Given the description of an element on the screen output the (x, y) to click on. 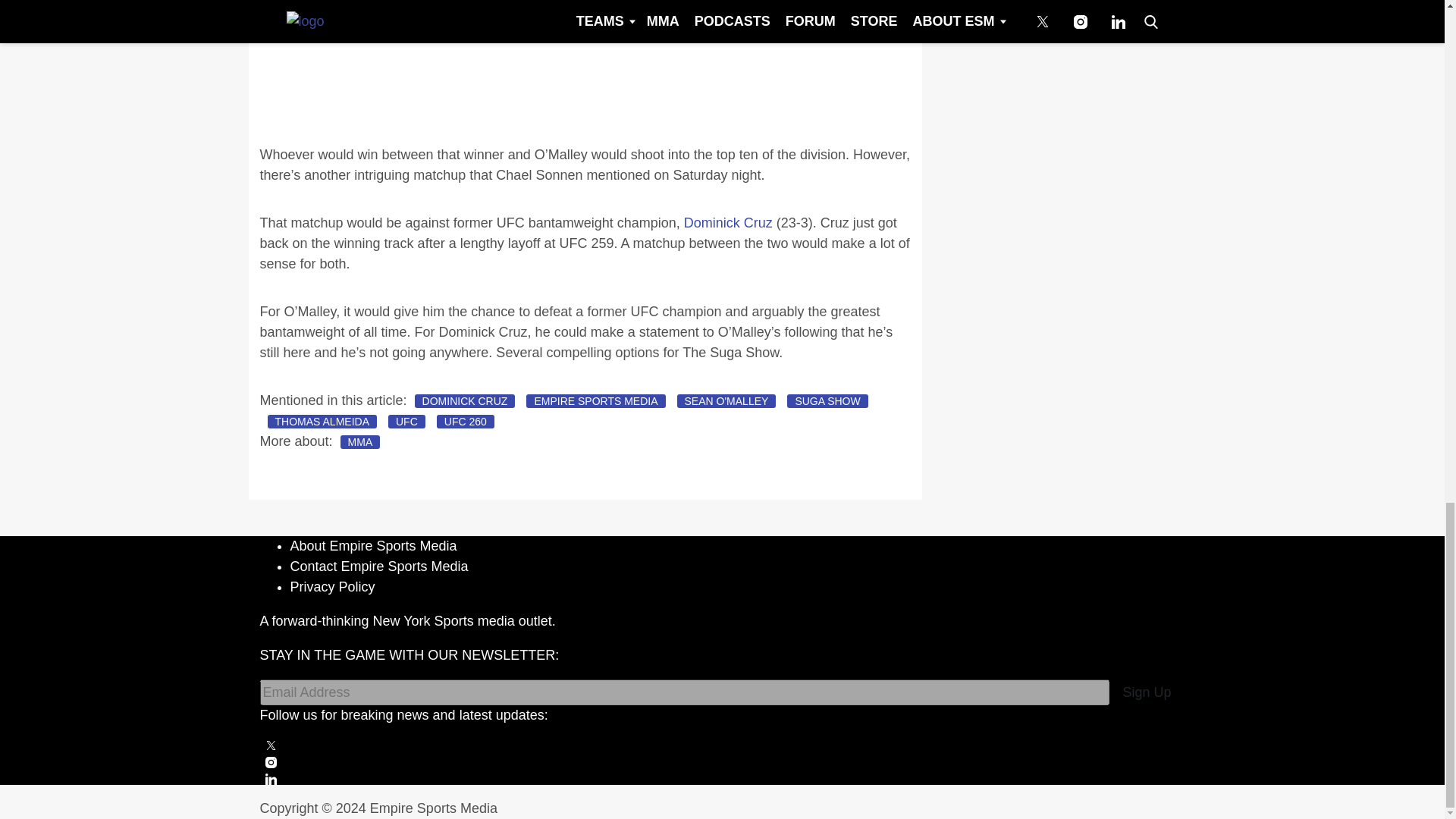
Follow us on Instagram (722, 762)
Follow us on Twitter (722, 745)
Dominick Cruz (728, 222)
Connect with us on LinkedIn (722, 778)
DOMINICK CRUZ (464, 400)
